Given the description of an element on the screen output the (x, y) to click on. 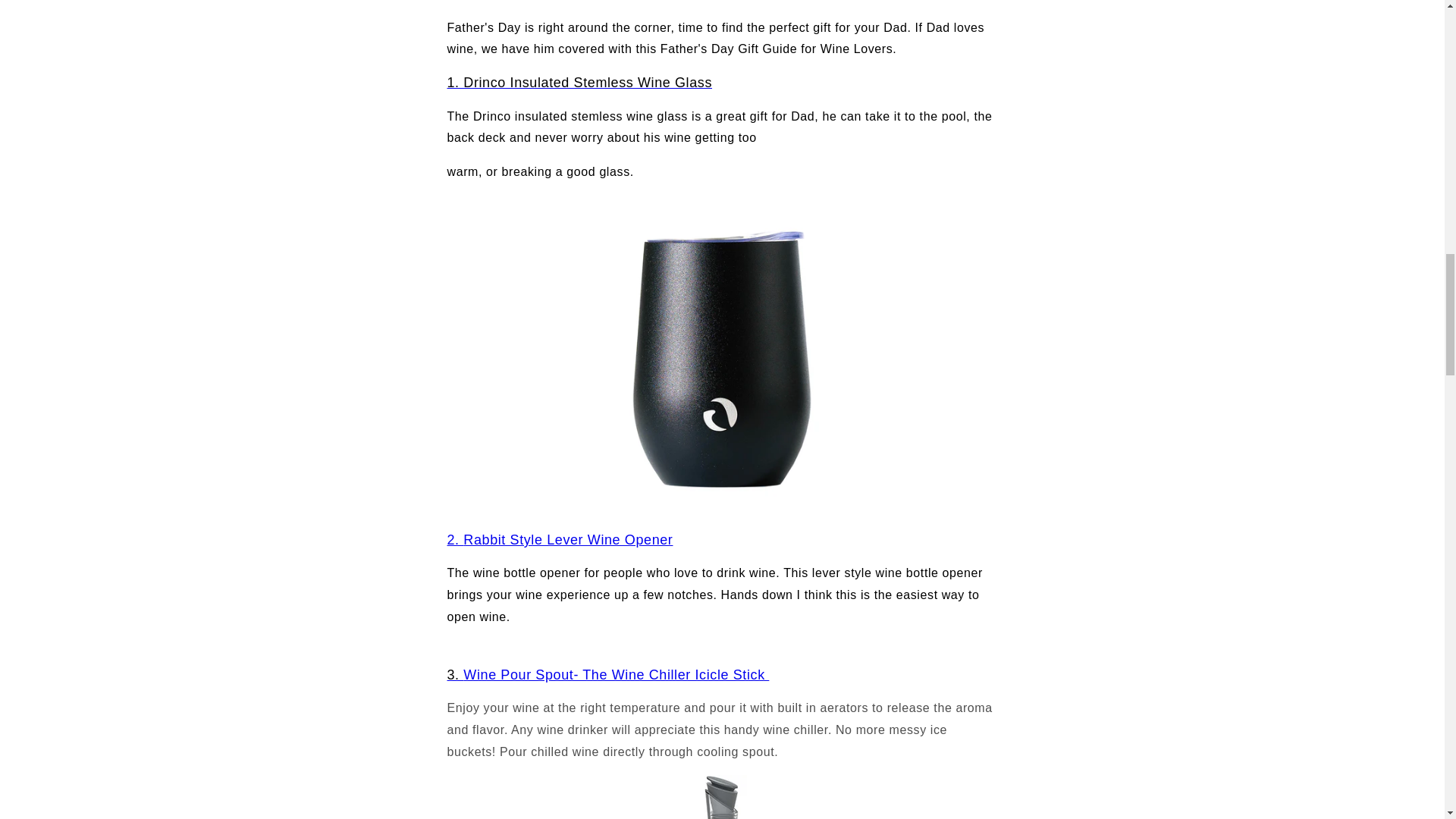
Host Chill wine cooling stick (721, 796)
Rabbit Lever Style Wine Opener (567, 539)
Drinco Insulated Wine Glass (579, 82)
Rabbit Lever Style Wine Opener (455, 539)
